Given the description of an element on the screen output the (x, y) to click on. 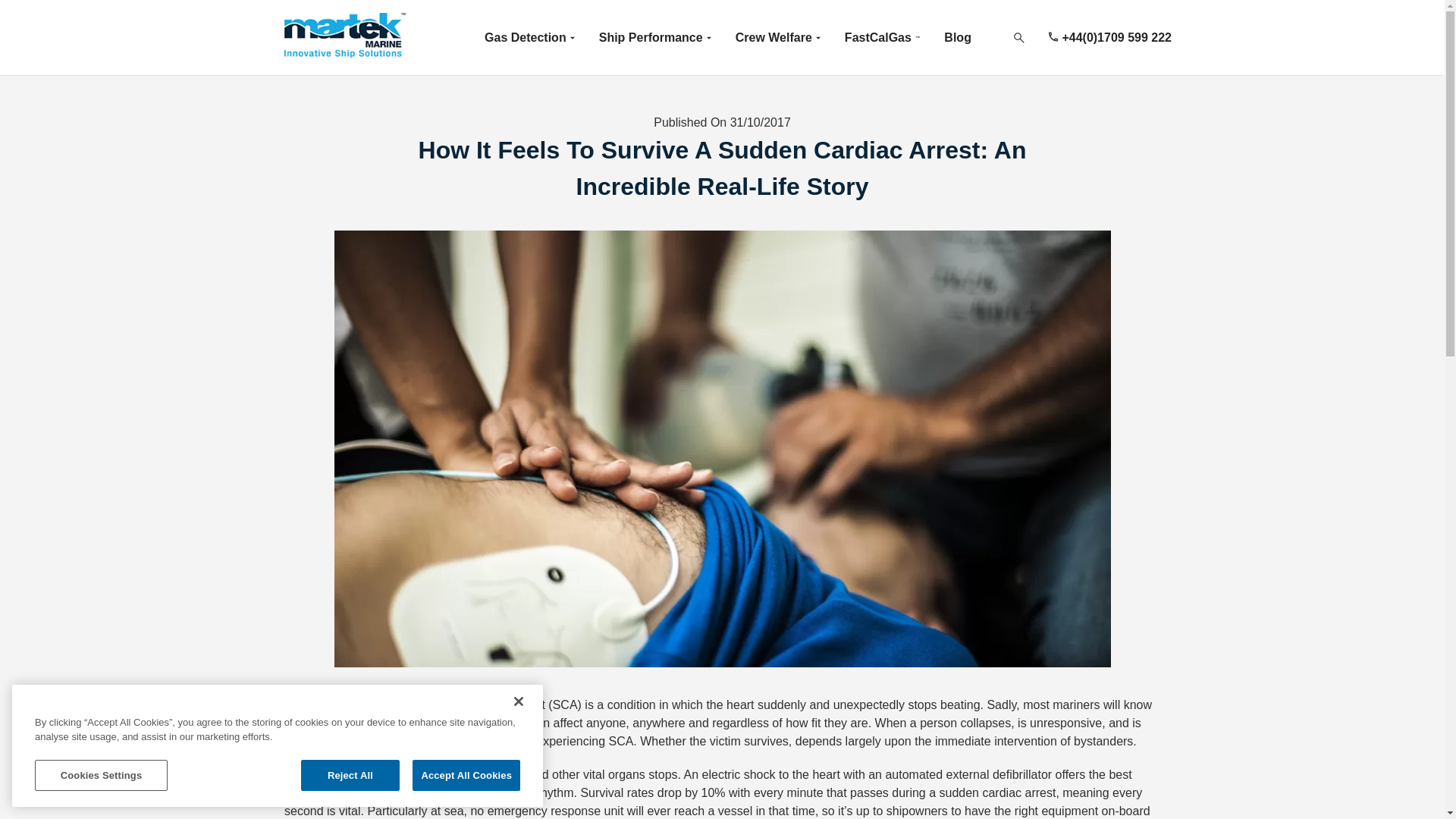
Ship Performance (654, 37)
Gas Detection (529, 37)
Martek Marine (364, 37)
Crew Welfare (778, 37)
